Given the description of an element on the screen output the (x, y) to click on. 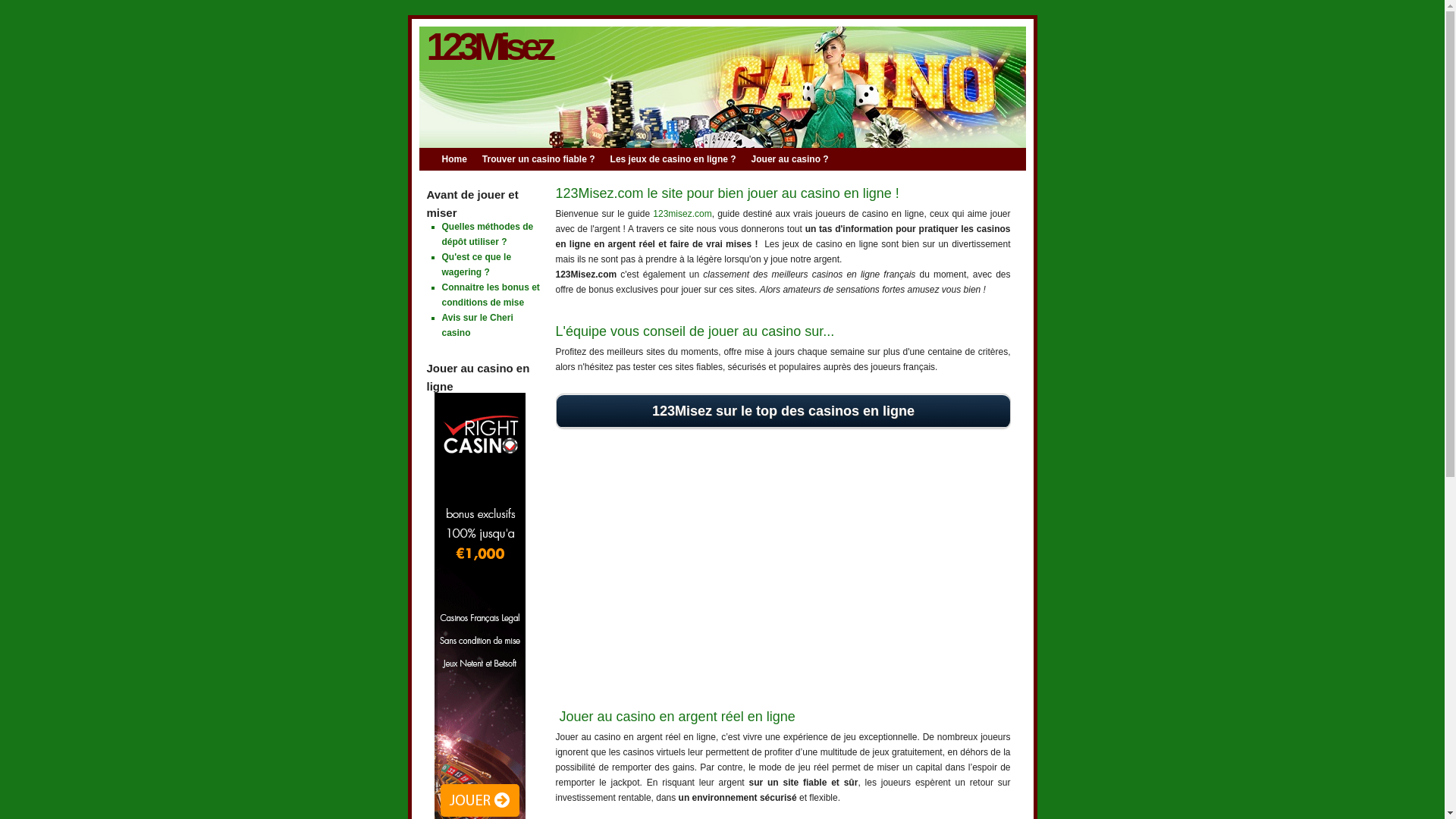
123Misez Element type: text (488, 46)
Qu'est ce que le wagering ? Element type: text (476, 264)
123misez.com Element type: text (681, 213)
Avis sur le Cheri casino Element type: text (476, 325)
Jouer au casino ? Element type: text (797, 158)
Home Element type: text (461, 158)
Les jeux de casino en ligne ? Element type: text (680, 158)
Connaitre les bonus et conditions de mise Element type: text (490, 294)
Trouver un casino fiable ? Element type: text (546, 158)
